Given the description of an element on the screen output the (x, y) to click on. 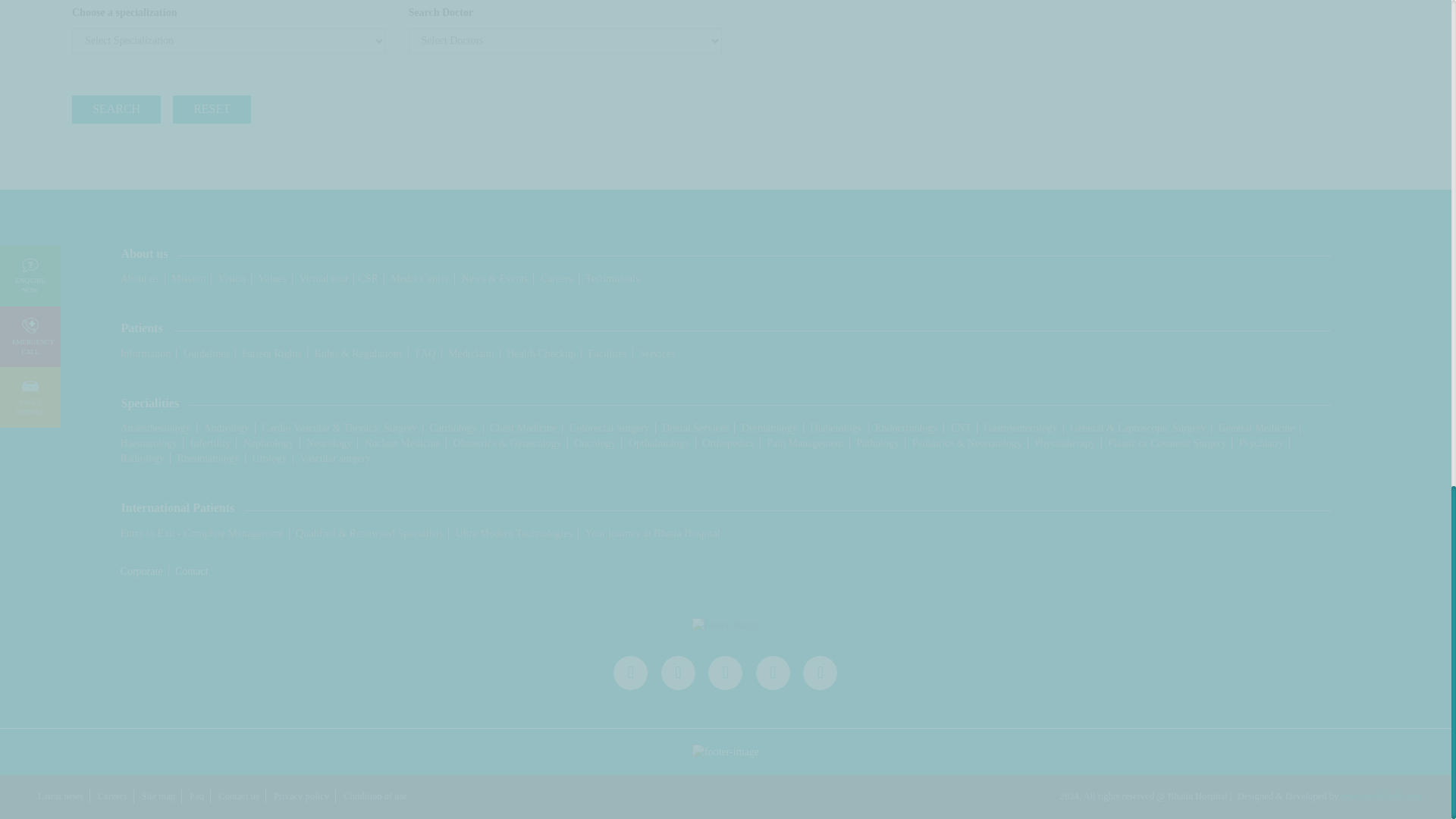
search-doctor-btn (115, 109)
search-doctor (564, 12)
search-doctor (228, 12)
